Given the description of an element on the screen output the (x, y) to click on. 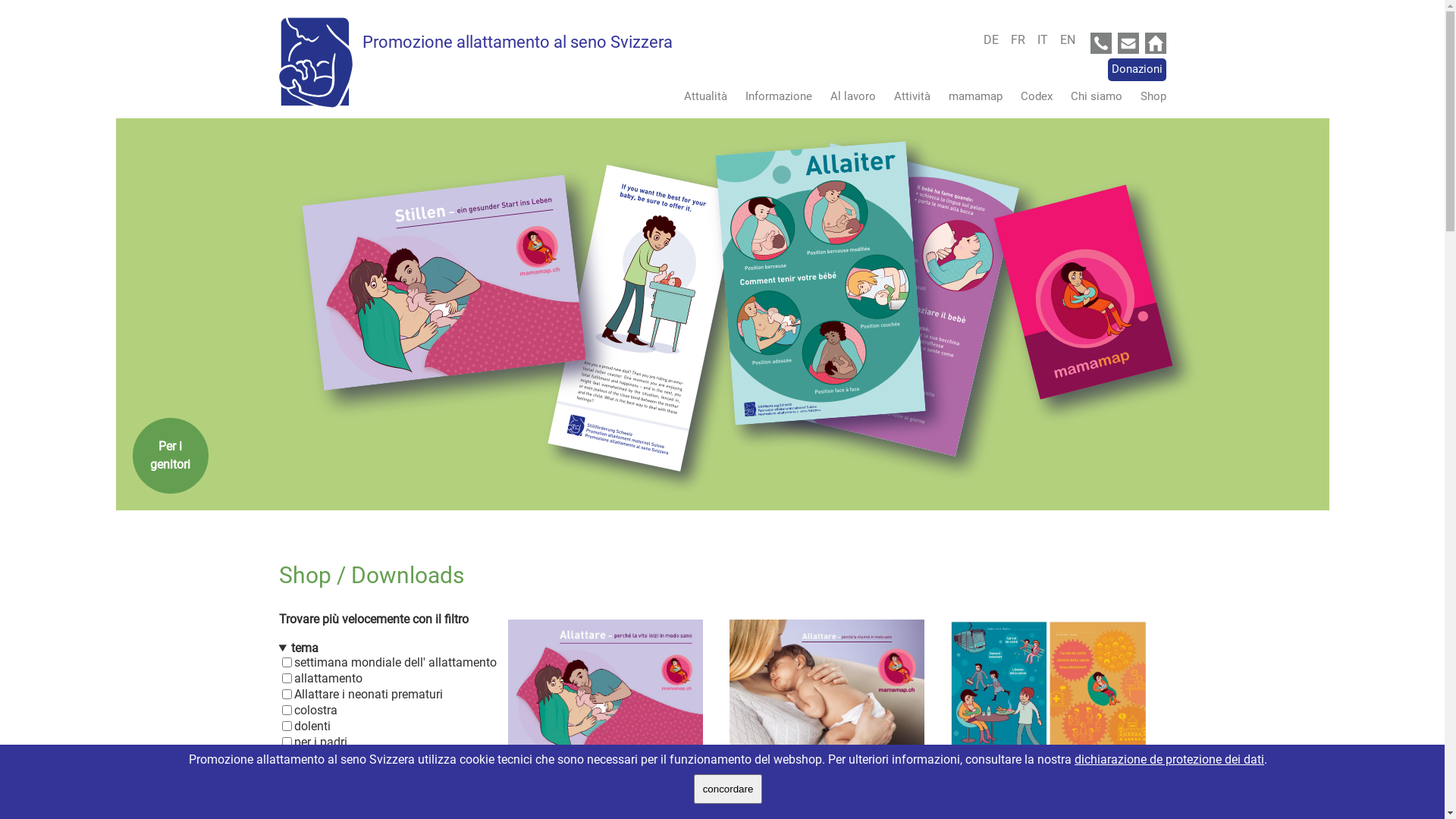
Per i
genitori Element type: text (169, 455)
FR Element type: text (1021, 39)
Donazioni Element type: text (1136, 69)
mamamap Element type: text (966, 95)
Coprilibri per i libretti della salute Element type: text (1048, 714)
concordare Element type: text (727, 788)
Codex Element type: text (1028, 95)
DE Element type: text (994, 39)
dichiarazione de protezione dei dati Element type: text (1169, 759)
Al lavoro Element type: text (844, 95)
Chi siamo Element type: text (1088, 95)
Informazione Element type: text (770, 95)
Shop Element type: text (1145, 95)
EN Element type: text (1067, 39)
